Given the description of an element on the screen output the (x, y) to click on. 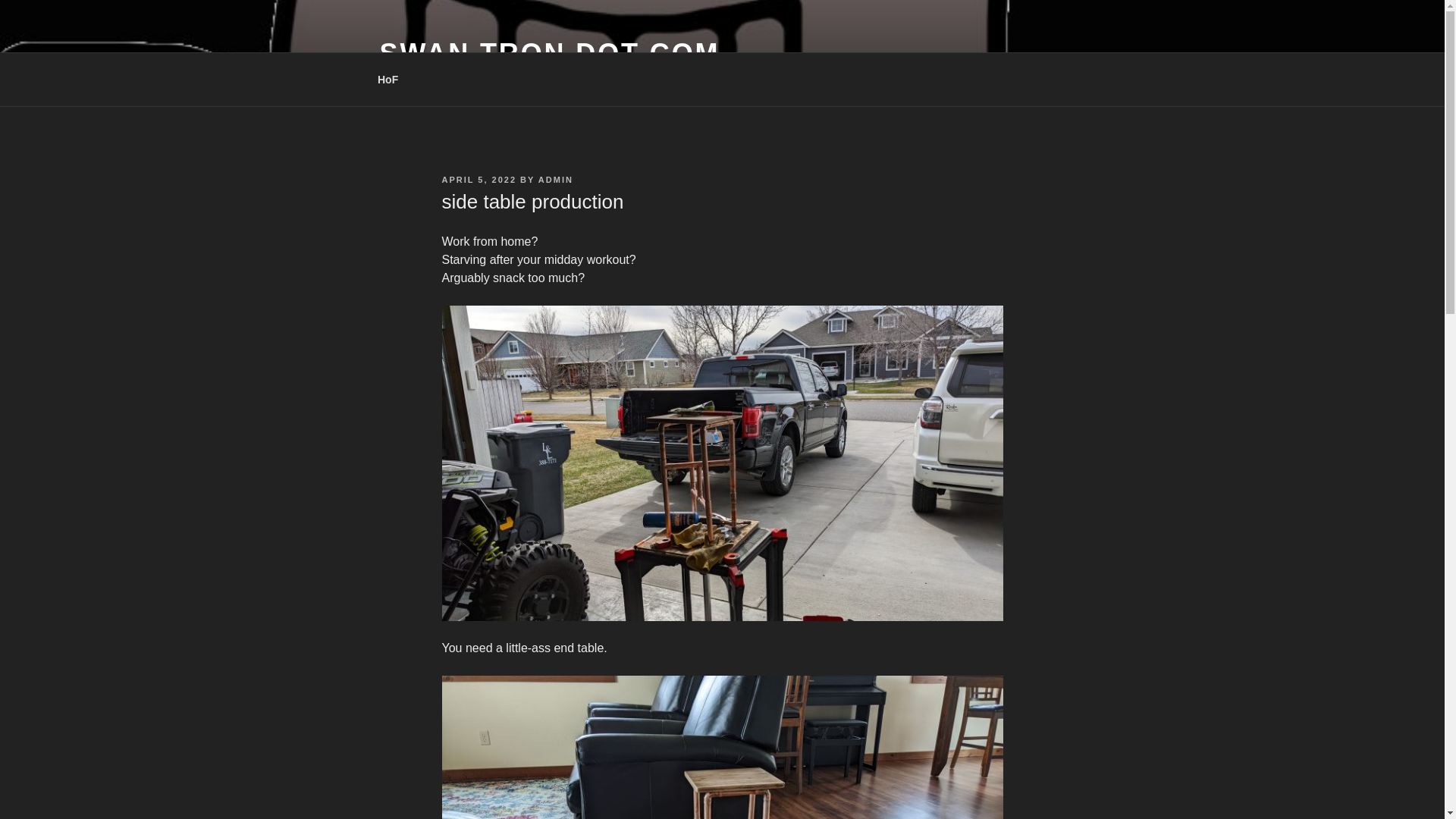
SWAN TRON DOT COM (548, 52)
HoF (387, 78)
APRIL 5, 2022 (478, 179)
ADMIN (555, 179)
